Given the description of an element on the screen output the (x, y) to click on. 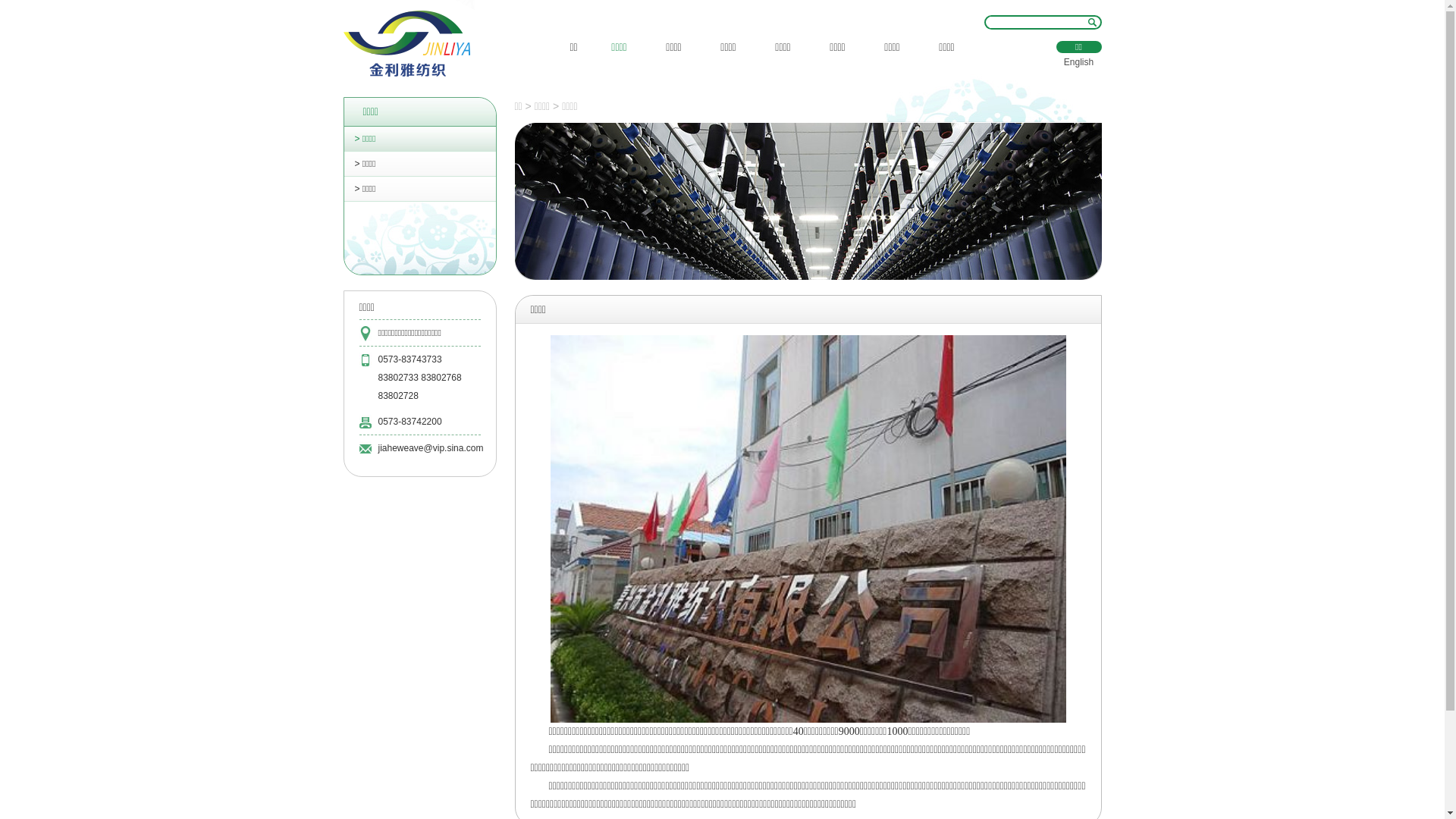
English Element type: text (1078, 62)
010.jpg Element type: hover (808, 528)
